Given the description of an element on the screen output the (x, y) to click on. 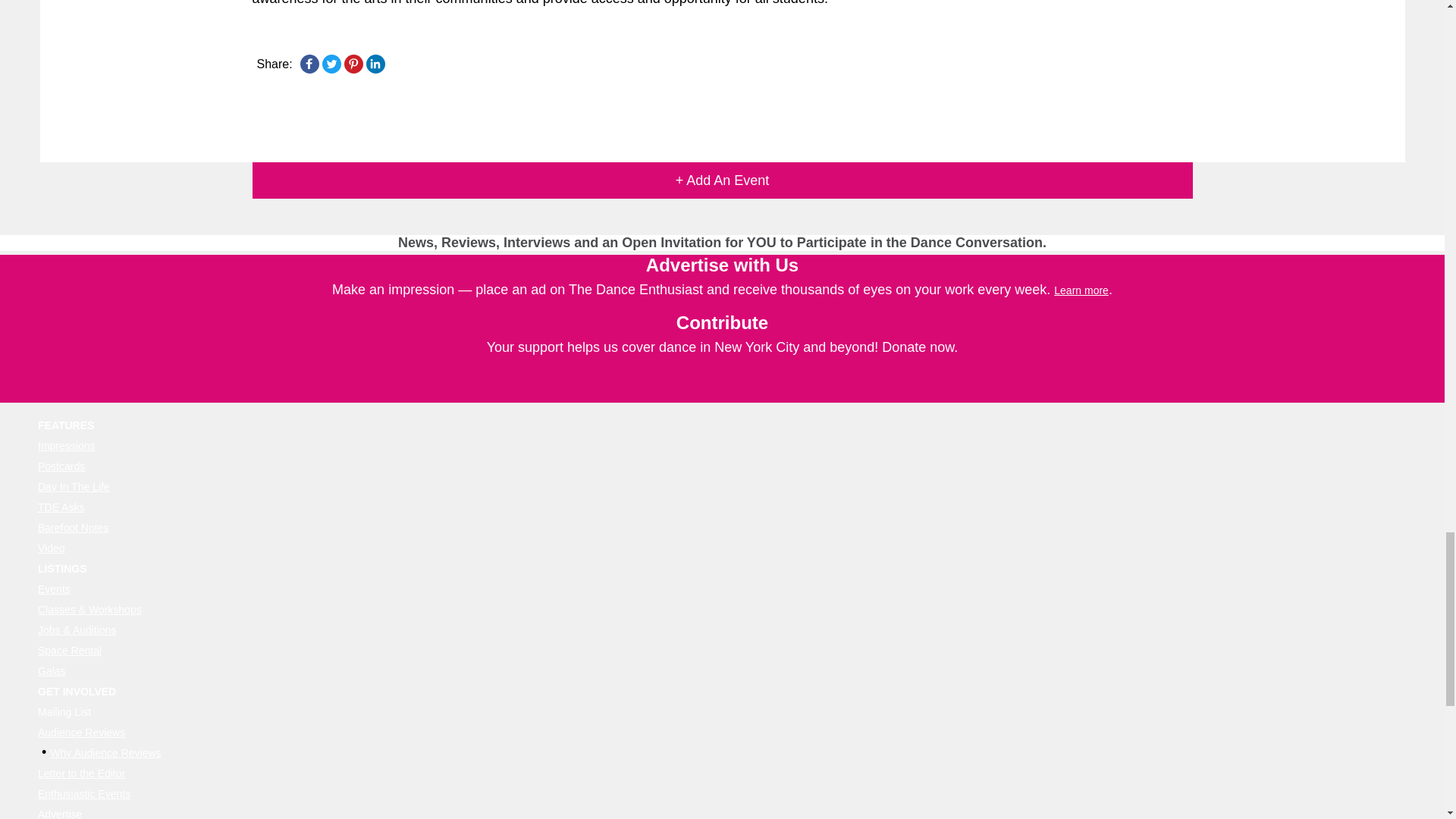
LinkedIn (375, 63)
Twitter (331, 63)
Facebook (309, 63)
Pinterest (353, 63)
